Given the description of an element on the screen output the (x, y) to click on. 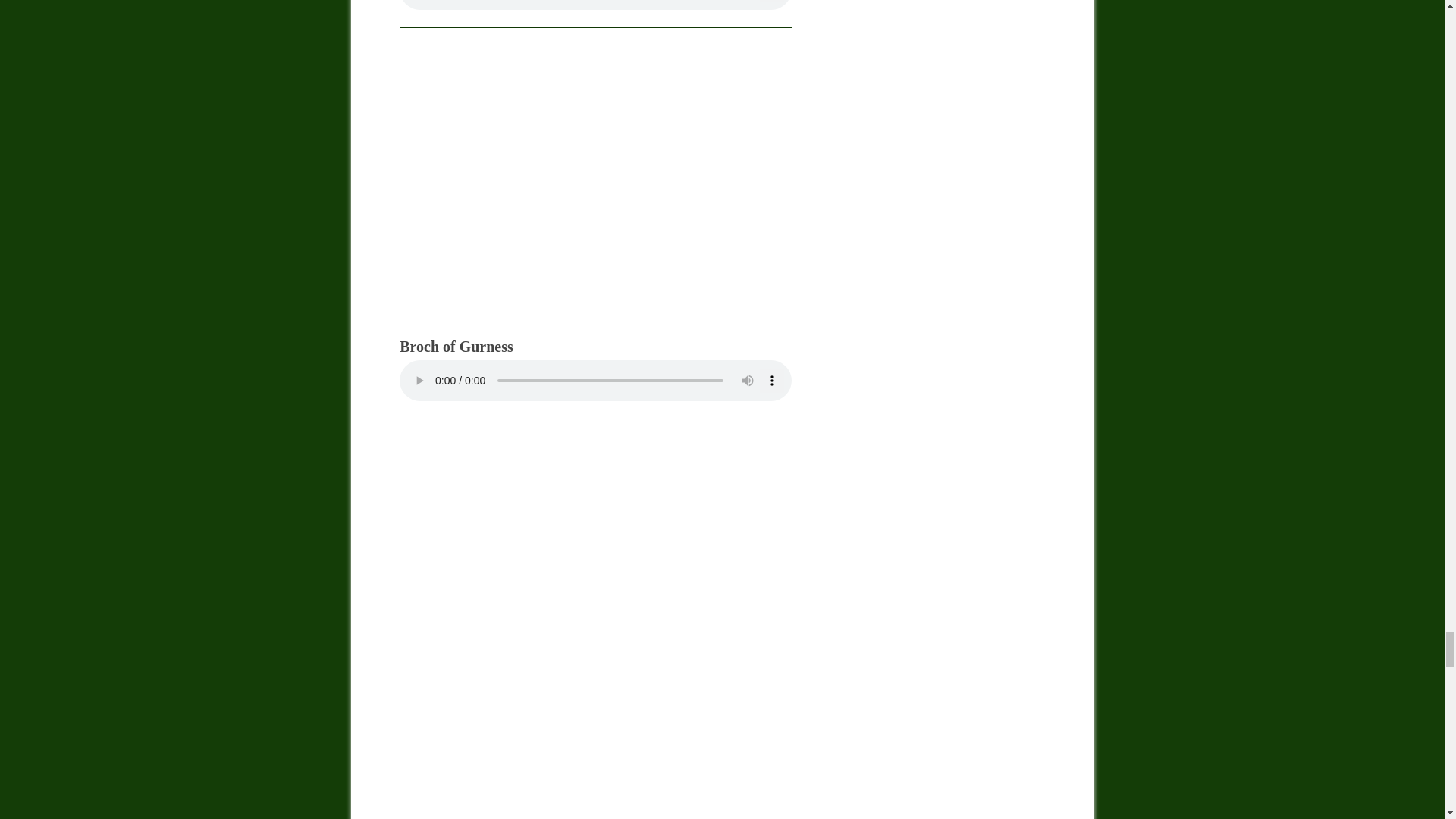
St Magnus Kirk, Birsay (595, 171)
